Given the description of an element on the screen output the (x, y) to click on. 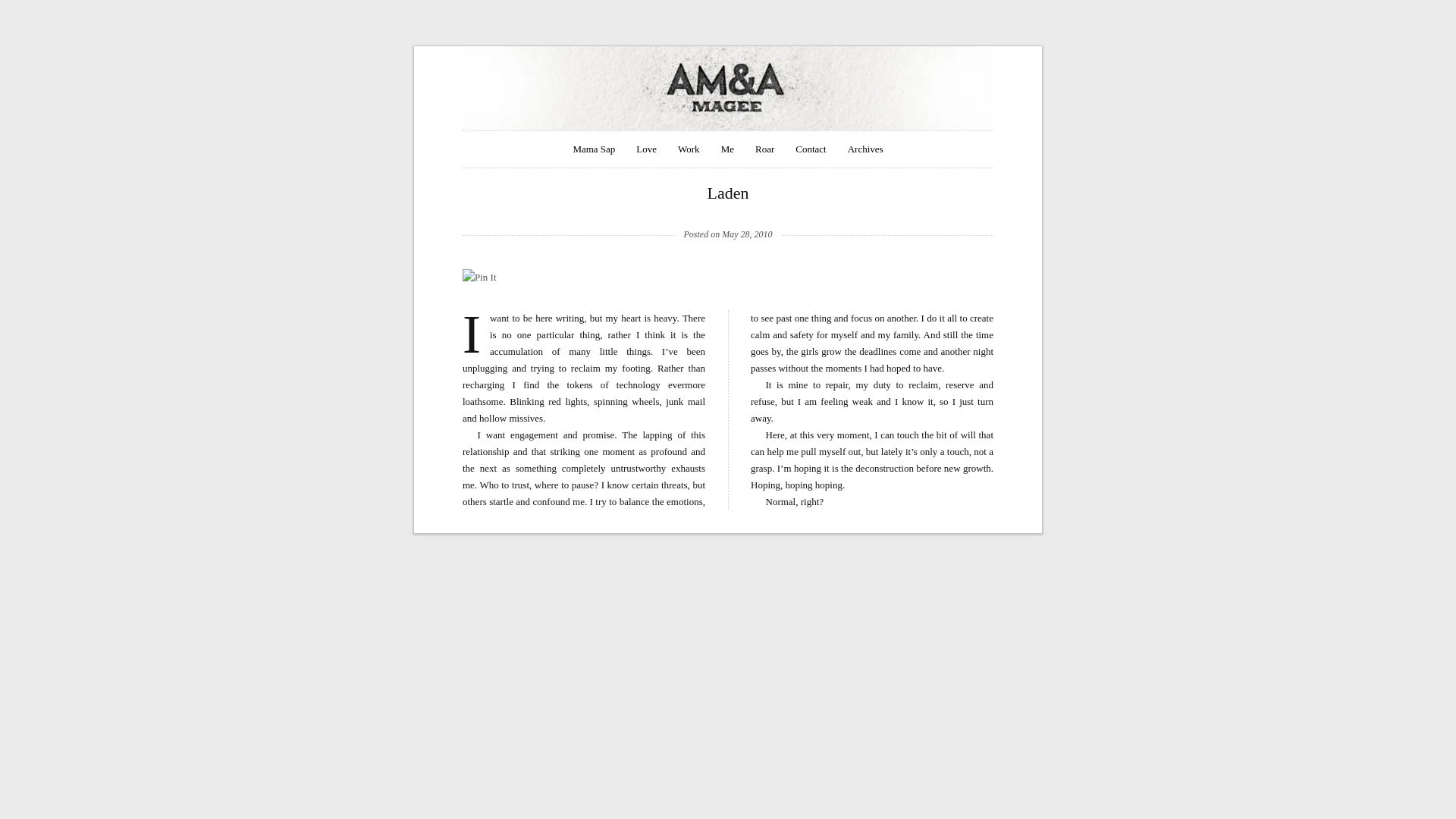
Pin It (479, 277)
Mama Sap (593, 149)
Archives (865, 149)
